Given the description of an element on the screen output the (x, y) to click on. 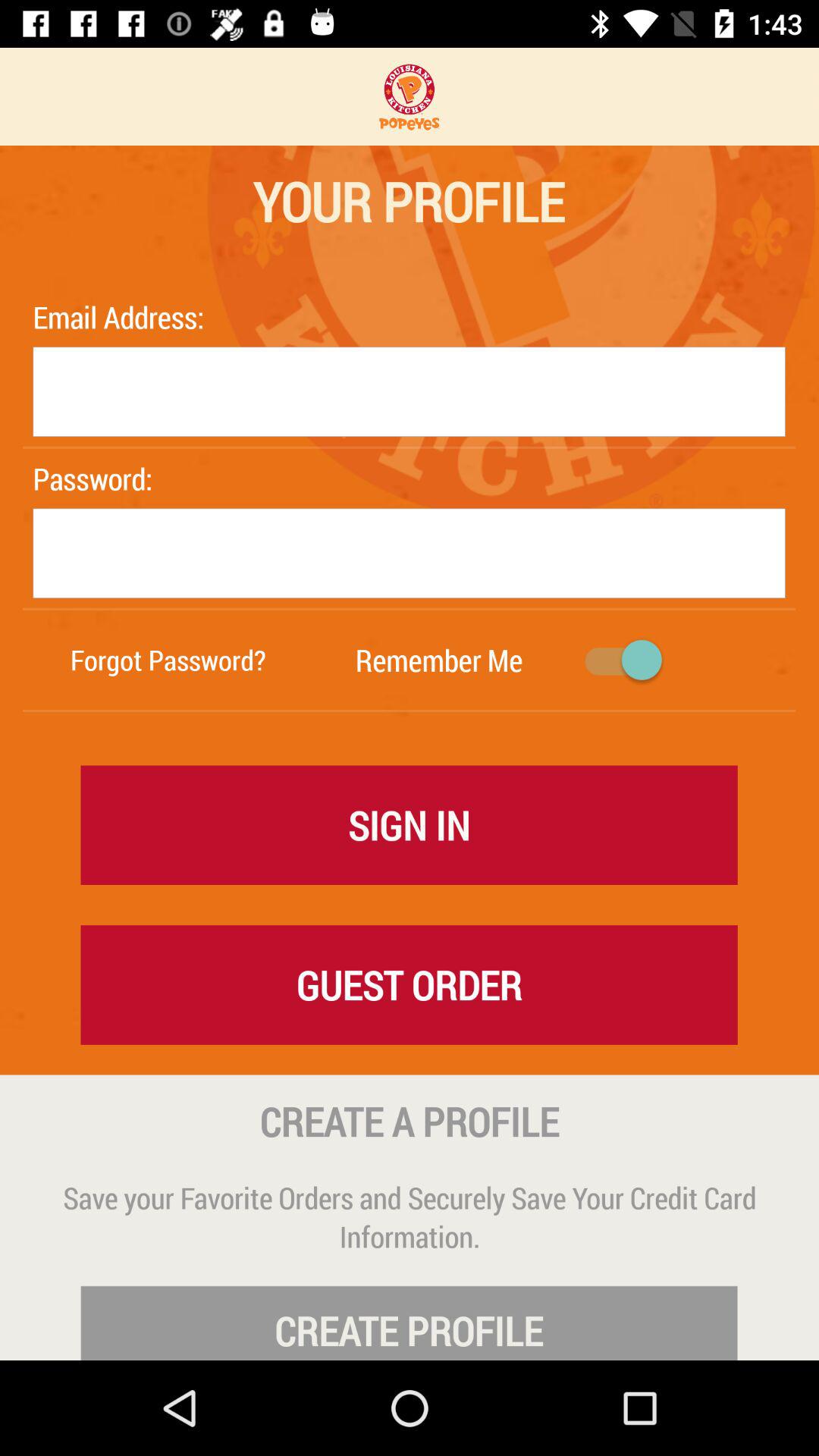
scroll until the sign in item (409, 824)
